Given the description of an element on the screen output the (x, y) to click on. 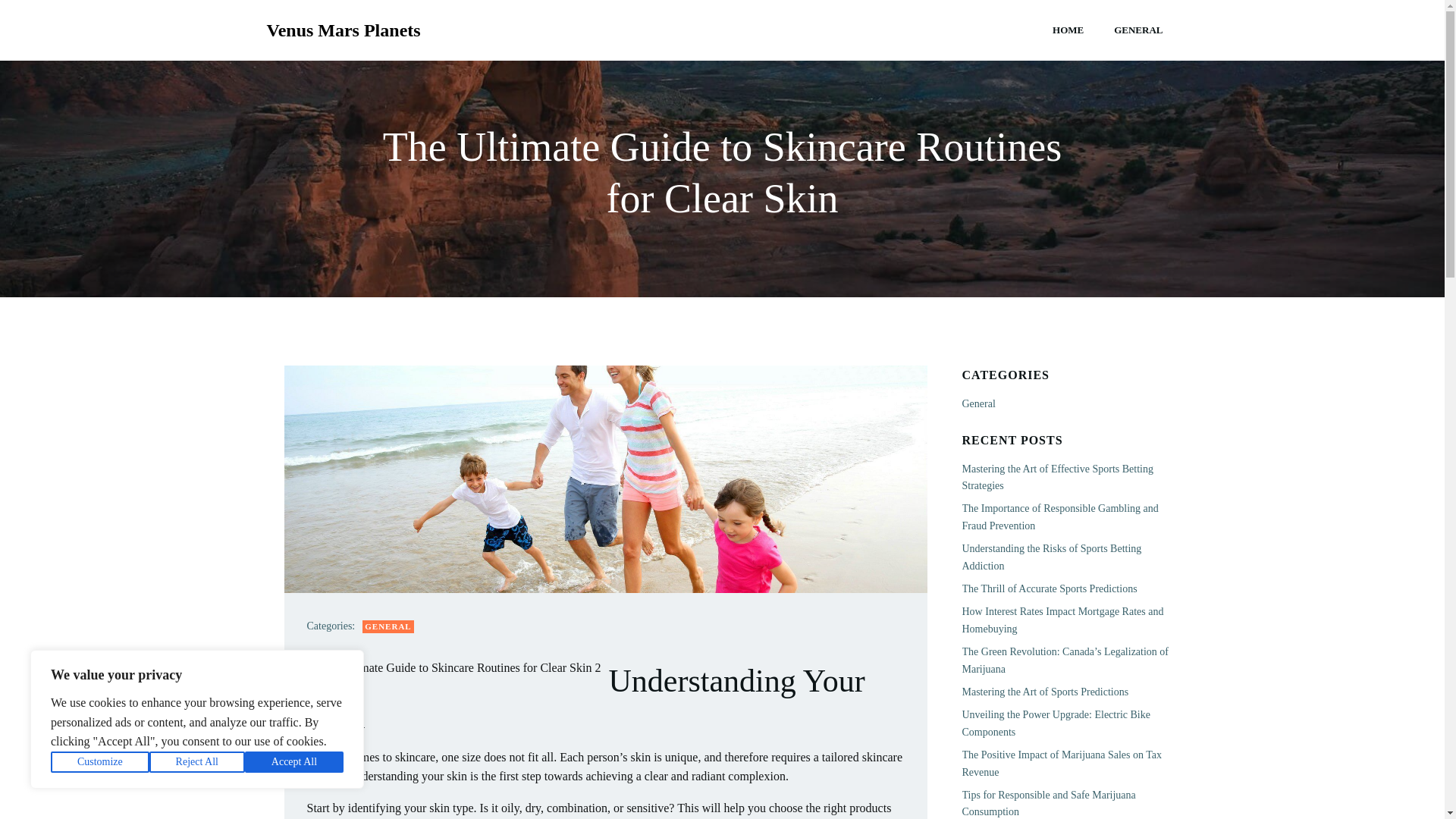
GENERAL (387, 626)
The Positive Impact of Marijuana Sales on Tax Revenue (1060, 763)
Unveiling the Power Upgrade: Electric Bike Components (1055, 723)
Tips for Responsible and Safe Marijuana Consumption (1047, 803)
Accept All (293, 762)
Customize (99, 762)
Venus Mars Planets (343, 30)
Understanding the Risks of Sports Betting Addiction (1050, 556)
Reject All (196, 762)
How Interest Rates Impact Mortgage Rates and Homebuying (1061, 619)
The Importance of Responsible Gambling and Fraud Prevention (1058, 516)
HOME (1067, 29)
Mastering the Art of Effective Sports Betting Strategies (1056, 477)
GENERAL (1137, 29)
The Thrill of Accurate Sports Predictions (1048, 588)
